Given the description of an element on the screen output the (x, y) to click on. 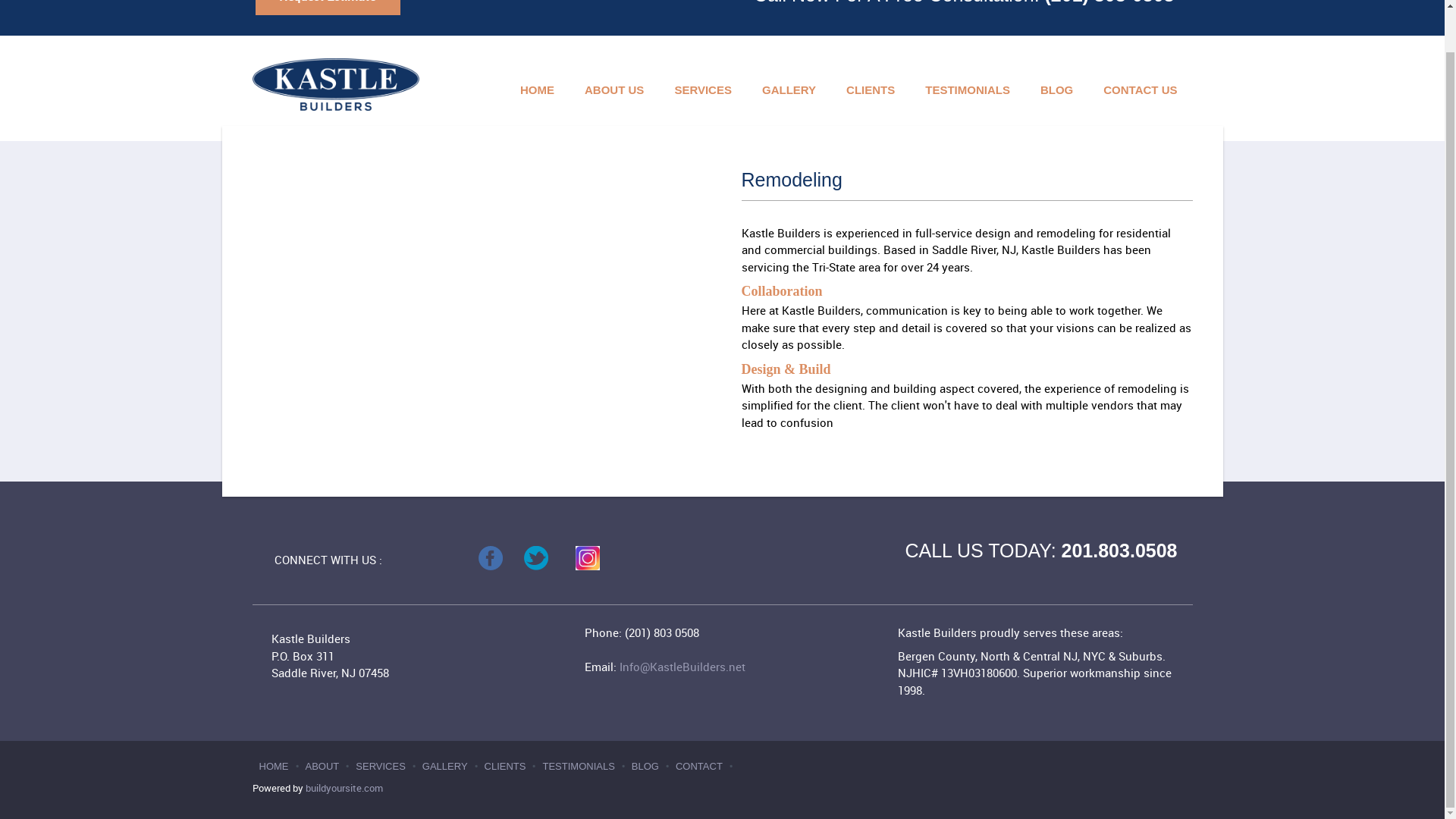
BLOG (646, 766)
CLINETS (506, 766)
CONTACT (700, 766)
HOME (274, 766)
TESTIMONIALS (967, 91)
Testimonials (967, 91)
About Us (614, 91)
GALLERY (788, 91)
GALLERY (445, 766)
ABOUT (323, 766)
ABOUT (323, 766)
Blog (1056, 91)
SERVICES (381, 766)
SERVICES (381, 766)
CLIENTS (506, 766)
